Given the description of an element on the screen output the (x, y) to click on. 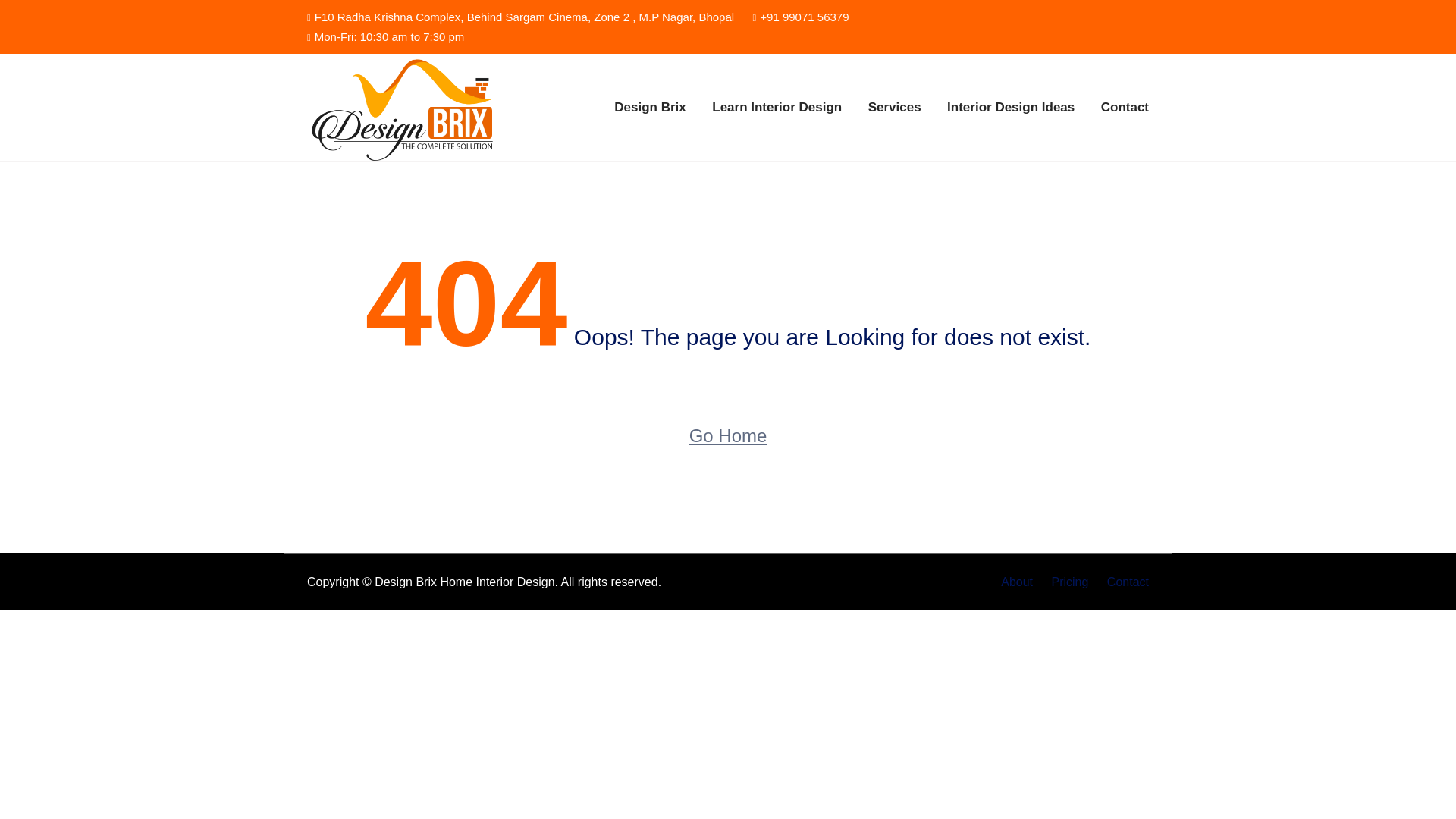
Design Brix (649, 107)
Contact (1124, 107)
Learn Interior Design (776, 107)
About (1016, 582)
Contact (1123, 582)
Mon-Fri: 10:30 am to 7:30 pm (385, 36)
Services (894, 107)
Design Brix (403, 107)
Pricing (1069, 582)
Go Home (727, 435)
Interior Design Ideas (1010, 107)
